Given the description of an element on the screen output the (x, y) to click on. 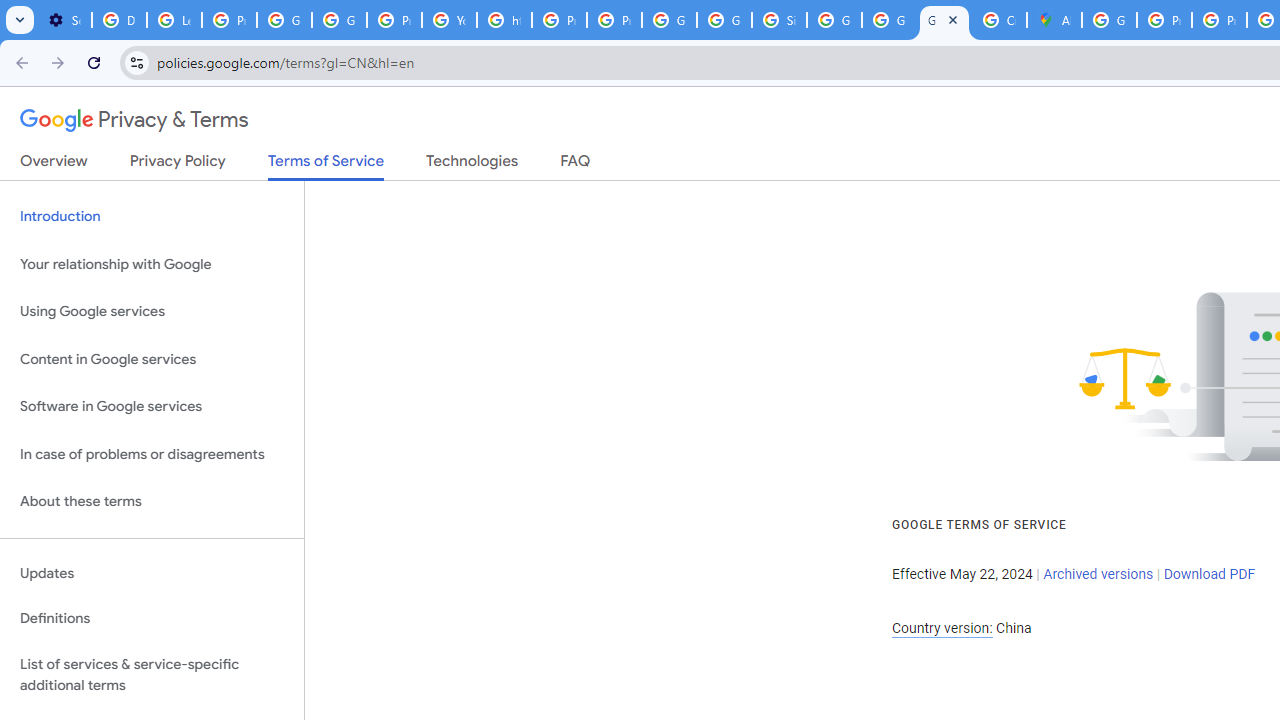
Country version: (942, 628)
Your relationship with Google (152, 263)
